Given the description of an element on the screen output the (x, y) to click on. 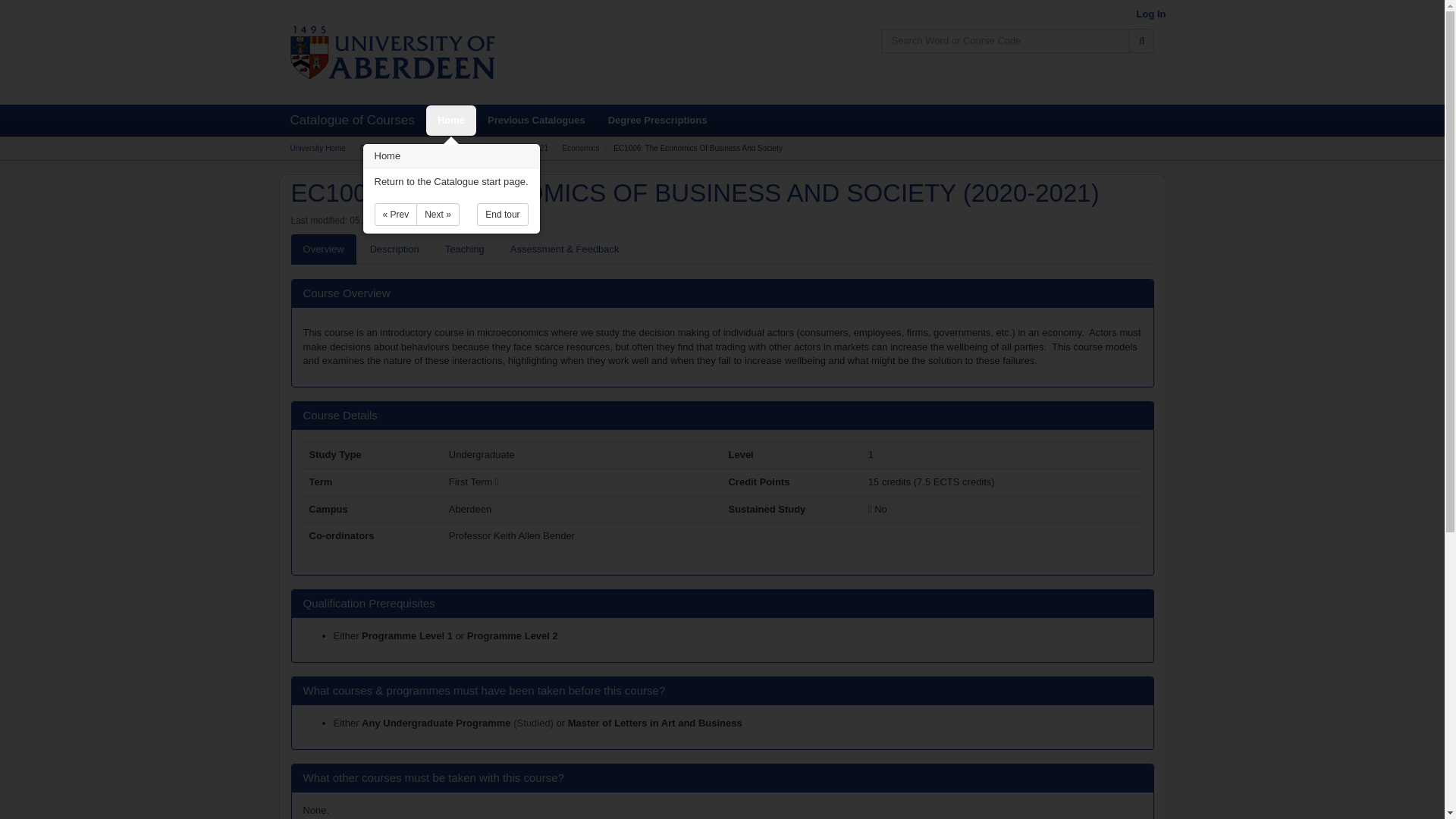
Economics (580, 148)
Search Catalogue (1141, 41)
Catalogue of Courses (395, 148)
Overview (323, 249)
End tour (502, 214)
2020-2021 (530, 148)
UG (437, 722)
Undergraduate (471, 148)
University of Aberdeen (392, 52)
Home (451, 120)
